Given the description of an element on the screen output the (x, y) to click on. 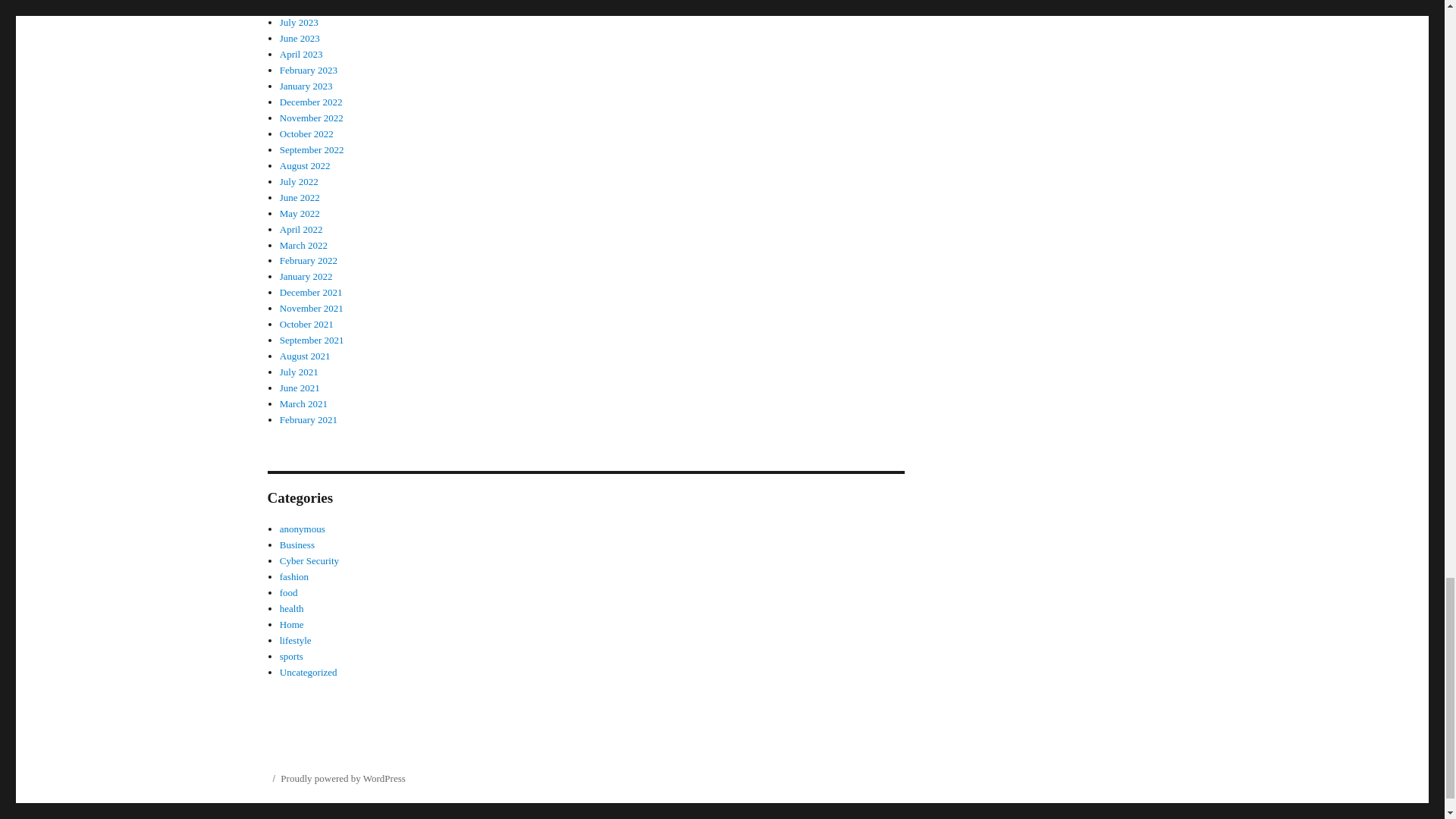
August 2022 (304, 165)
October 2022 (306, 133)
September 2022 (311, 149)
July 2022 (298, 181)
April 2023 (301, 53)
July 2023 (298, 21)
June 2023 (299, 38)
August 2023 (304, 6)
January 2023 (306, 85)
November 2022 (311, 117)
